Given the description of an element on the screen output the (x, y) to click on. 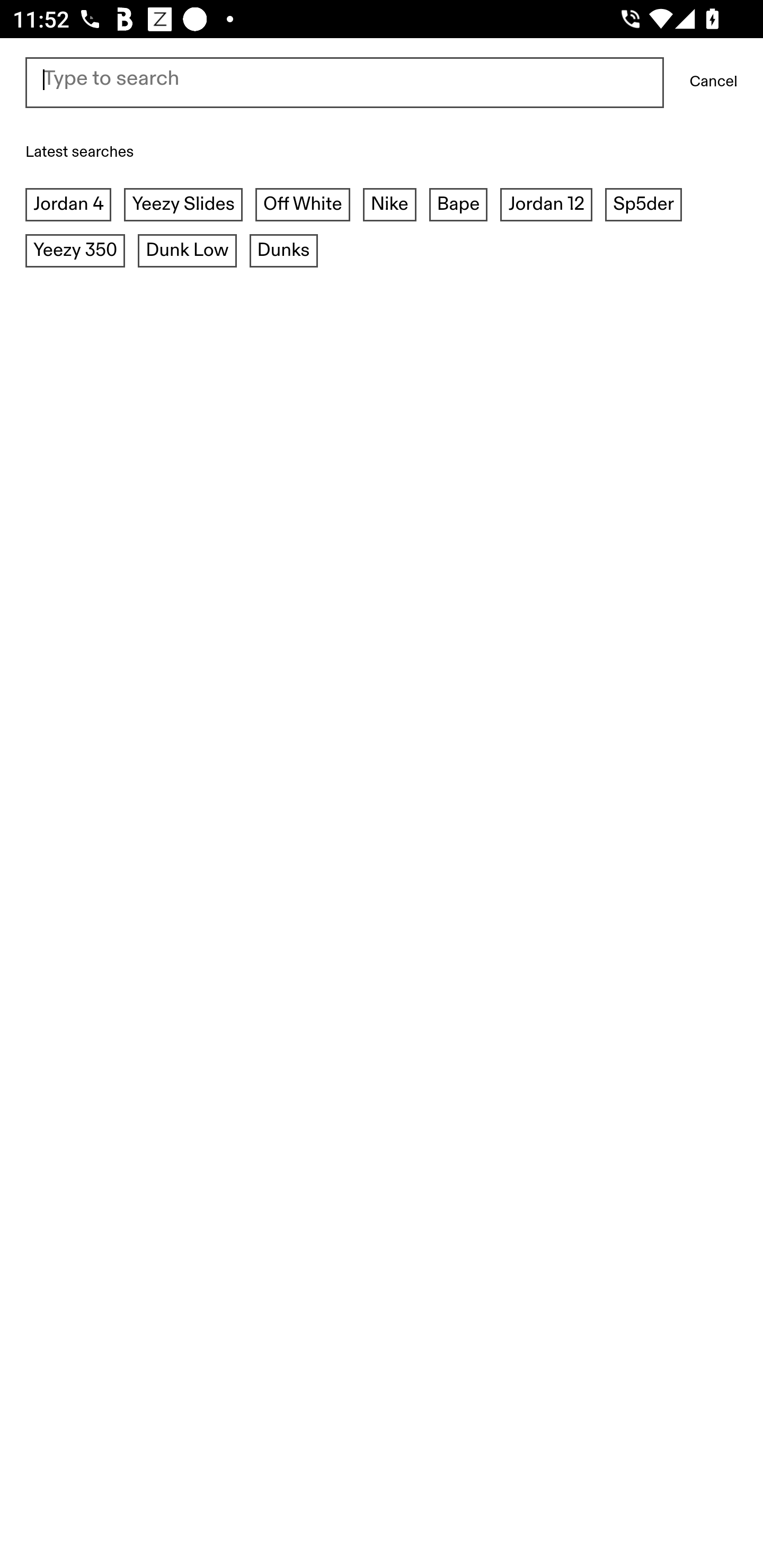
Cancel (713, 82)
Jordan 4 (68, 206)
Yeezy Slides (183, 206)
Off White (302, 206)
Nike (389, 206)
Bape (457, 206)
Jordan 12 (545, 206)
Sp5der (643, 206)
Yeezy 350 (75, 252)
Dunk Low (186, 252)
Dunks (282, 252)
